Given the description of an element on the screen output the (x, y) to click on. 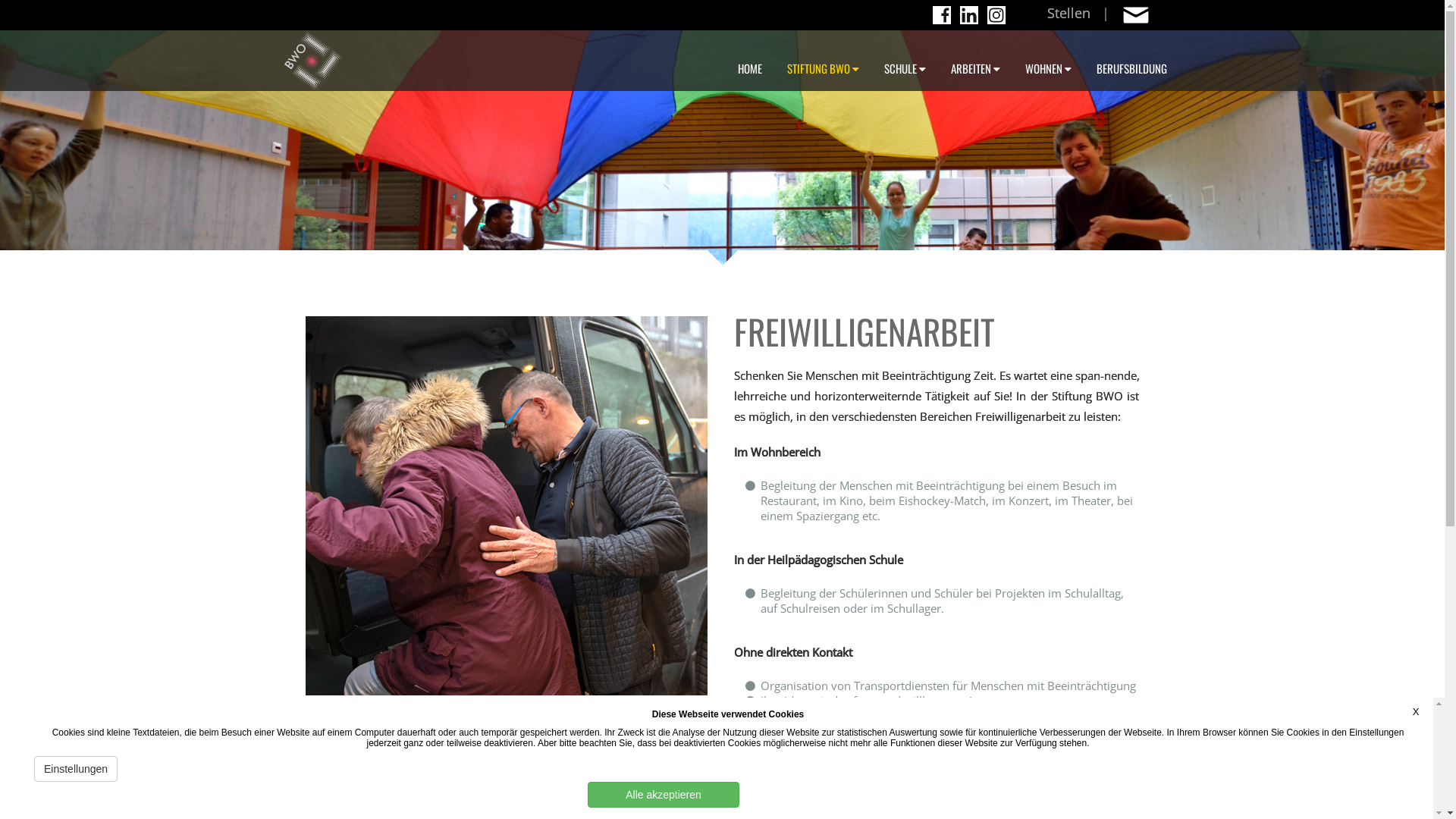
Alle akzeptieren Element type: text (663, 794)
ARBEITEN Element type: text (975, 60)
HOME Element type: text (749, 60)
BERUFSBILDUNG Element type: text (1131, 60)
X Element type: text (1415, 710)
STIFTUNG BWO Element type: text (822, 60)
Stellen Element type: text (1067, 10)
Einstellungen Element type: text (75, 768)
WOHNEN Element type: text (1047, 60)
SCHULE Element type: text (904, 60)
